Given the description of an element on the screen output the (x, y) to click on. 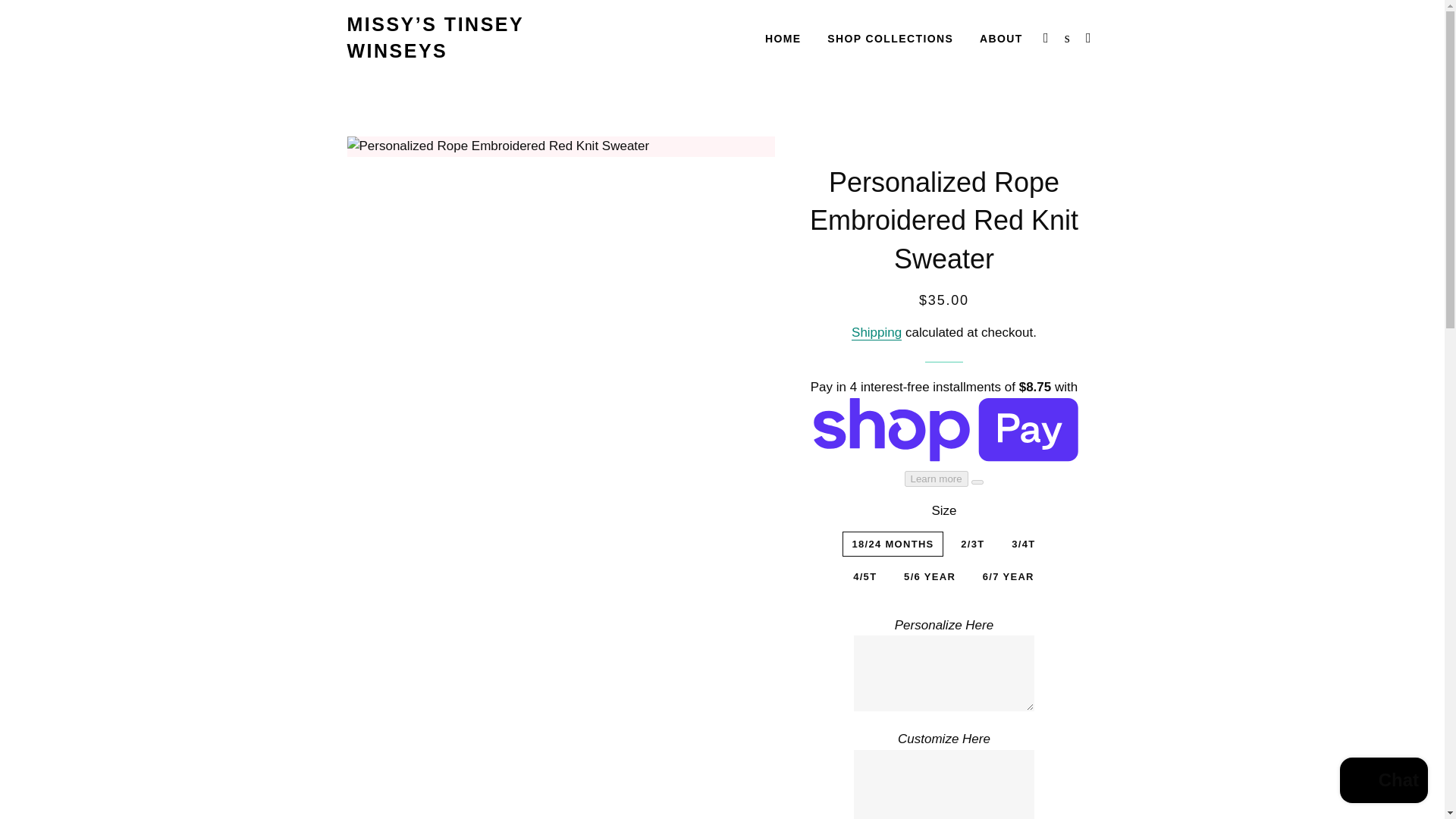
Shipping (876, 332)
SHOP COLLECTIONS (889, 38)
ABOUT (1000, 38)
Shopify online store chat (1383, 781)
HOME (783, 38)
